Given the description of an element on the screen output the (x, y) to click on. 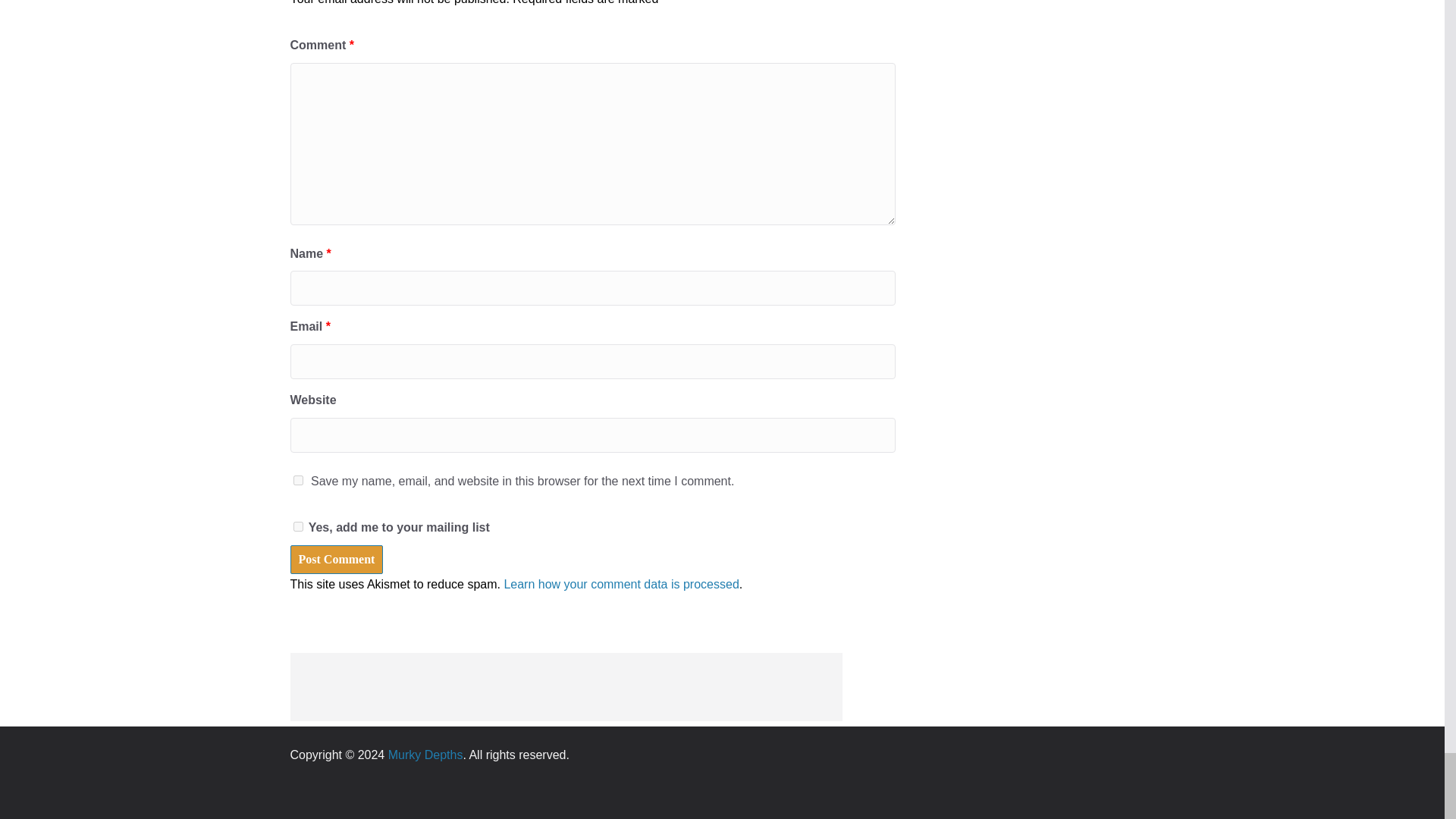
1 (297, 526)
Post Comment (335, 559)
yes (297, 480)
